Given the description of an element on the screen output the (x, y) to click on. 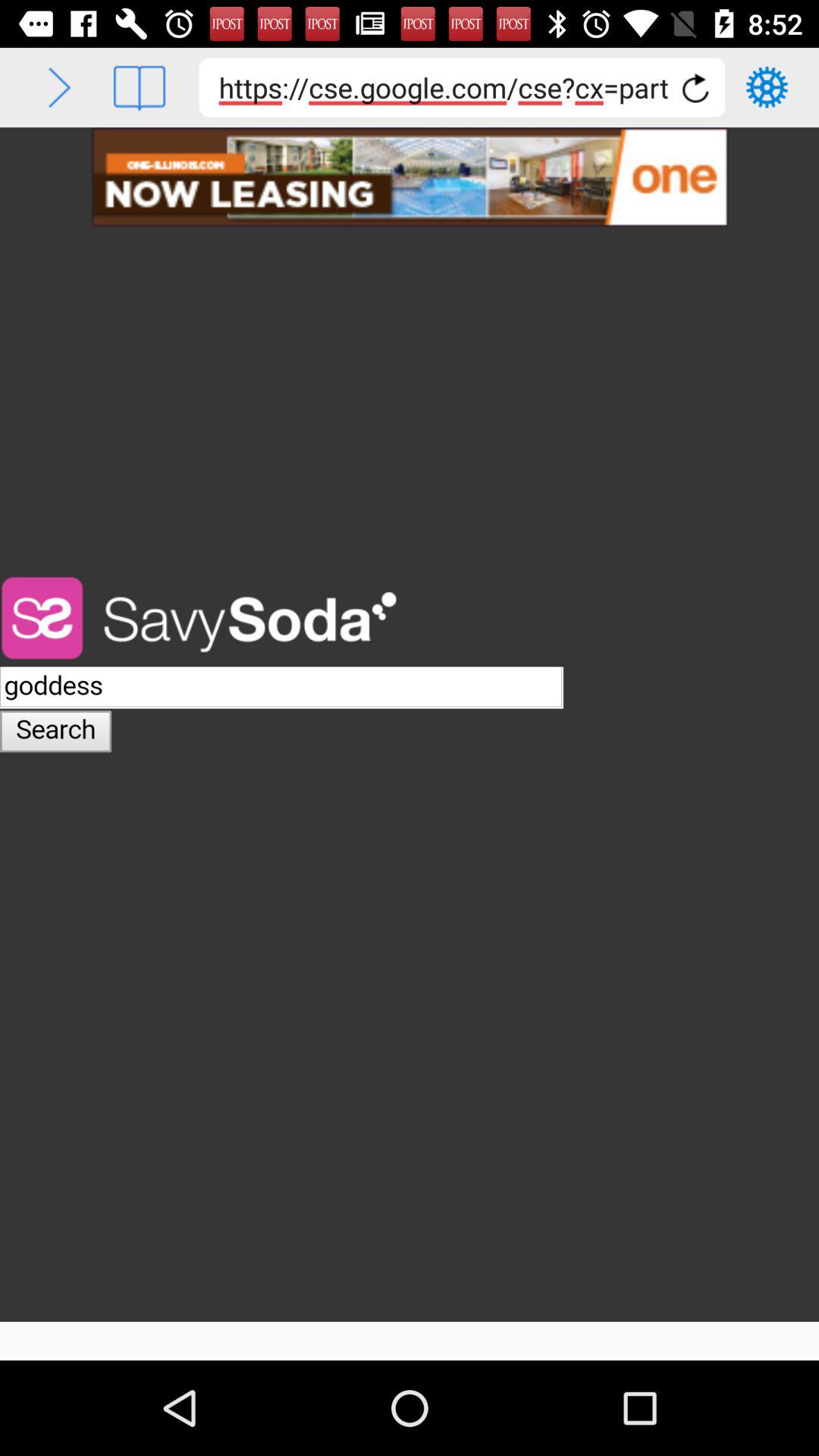
go forward (59, 87)
